Given the description of an element on the screen output the (x, y) to click on. 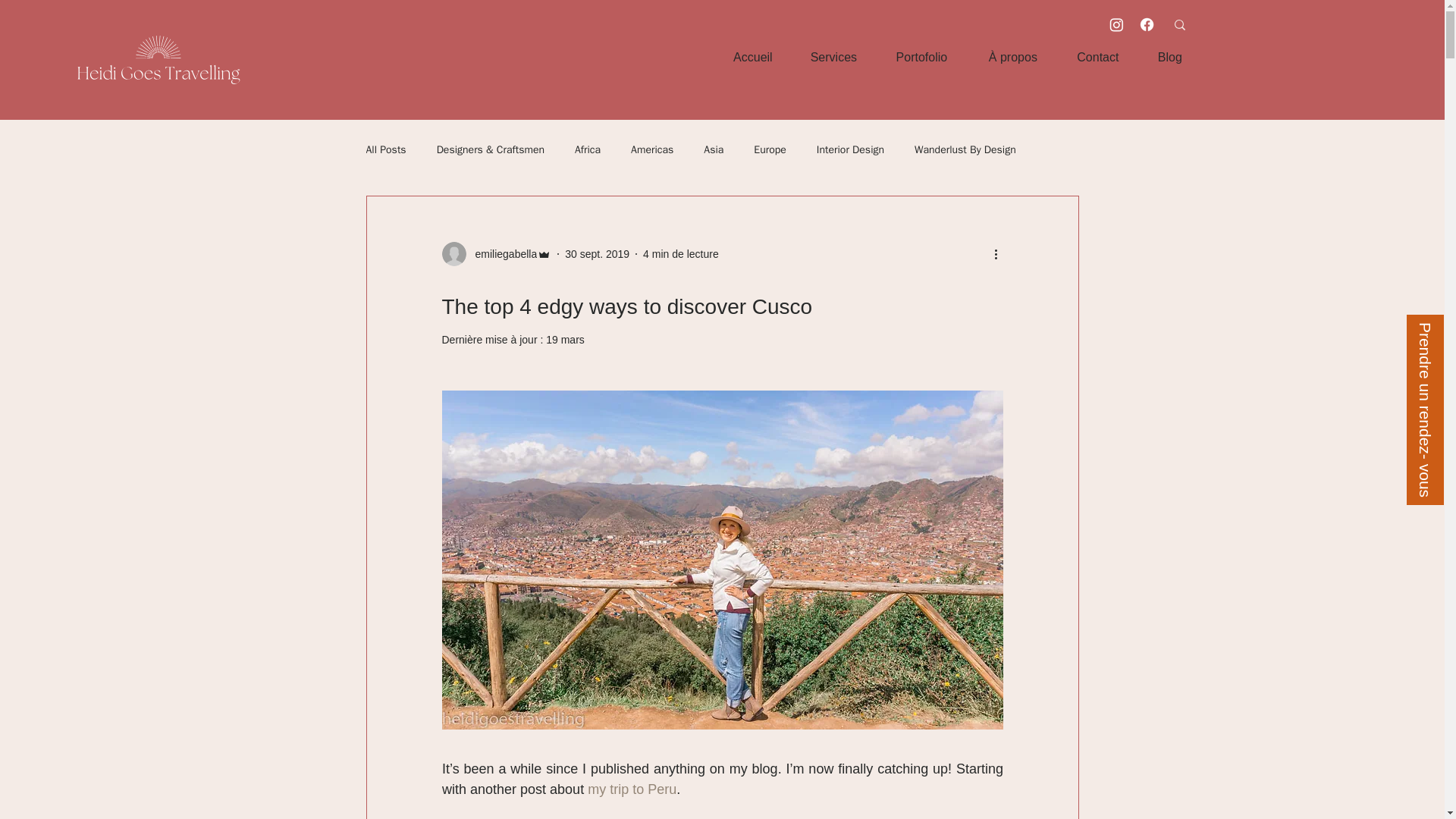
Asia (713, 150)
19 mars (565, 339)
30 sept. 2019 (596, 253)
Africa (587, 150)
Accueil (752, 57)
Wanderlust By Design (965, 150)
emiliegabella (496, 253)
Blog (1170, 57)
4 min de lecture (681, 253)
emiliegabella (501, 253)
